Given the description of an element on the screen output the (x, y) to click on. 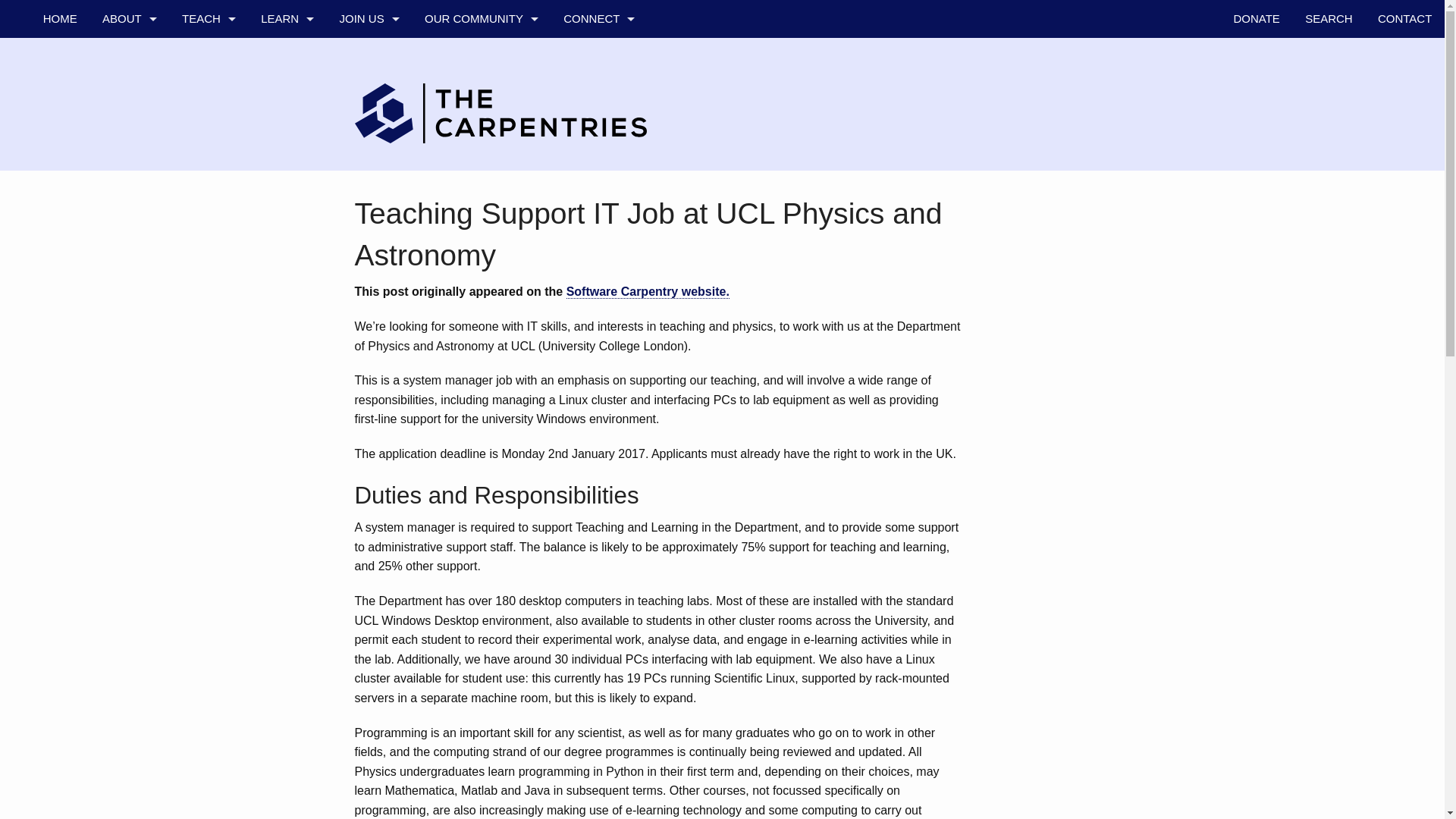
PAST WORKSHOPS (286, 170)
OUR IMPACT (286, 208)
OUR VALUES (128, 94)
DONATE (1256, 18)
ABOUT US (128, 56)
SOFTWARE CARPENTRY LESSONS (207, 132)
UPCOMING WORKSHOPS (286, 132)
OUR WORKSHOPS (286, 56)
FOR INSTRUCTORS (207, 284)
ANNUAL REPORTS (128, 284)
OUR CURRICULA (286, 94)
EQUITY, INCLUSION, AND ACCESSIBILITY (128, 322)
SUPPORTERS (128, 208)
GOVERNANCE (128, 170)
CODE OF CONDUCT (128, 132)
